Given the description of an element on the screen output the (x, y) to click on. 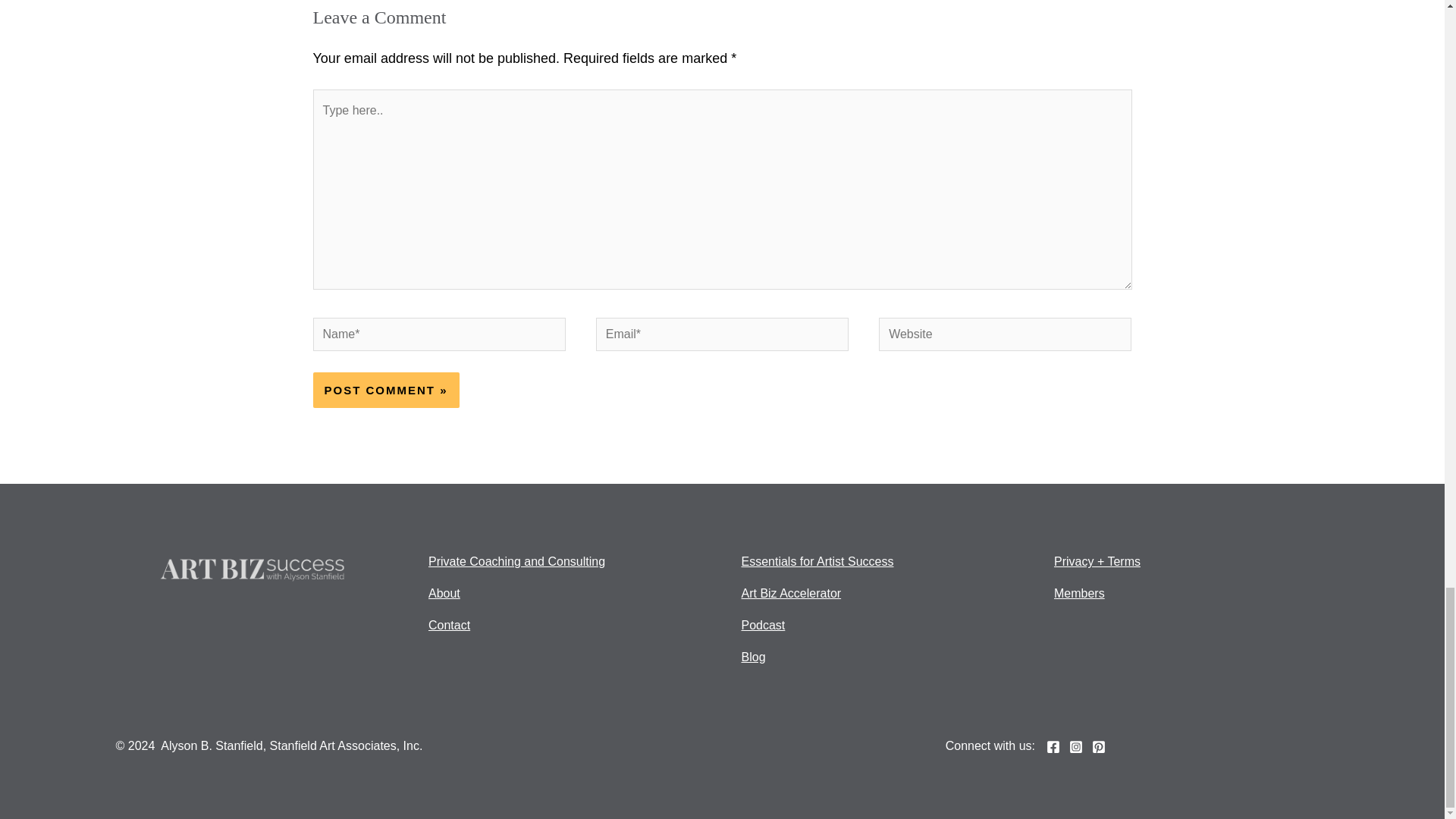
Private Coaching and Consulting (516, 561)
Members (1079, 593)
Contact (449, 625)
Blog (753, 656)
Art Biz Accelerator (791, 593)
About (444, 593)
Essentials for Artist Success (817, 561)
Podcast (763, 625)
